Given the description of an element on the screen output the (x, y) to click on. 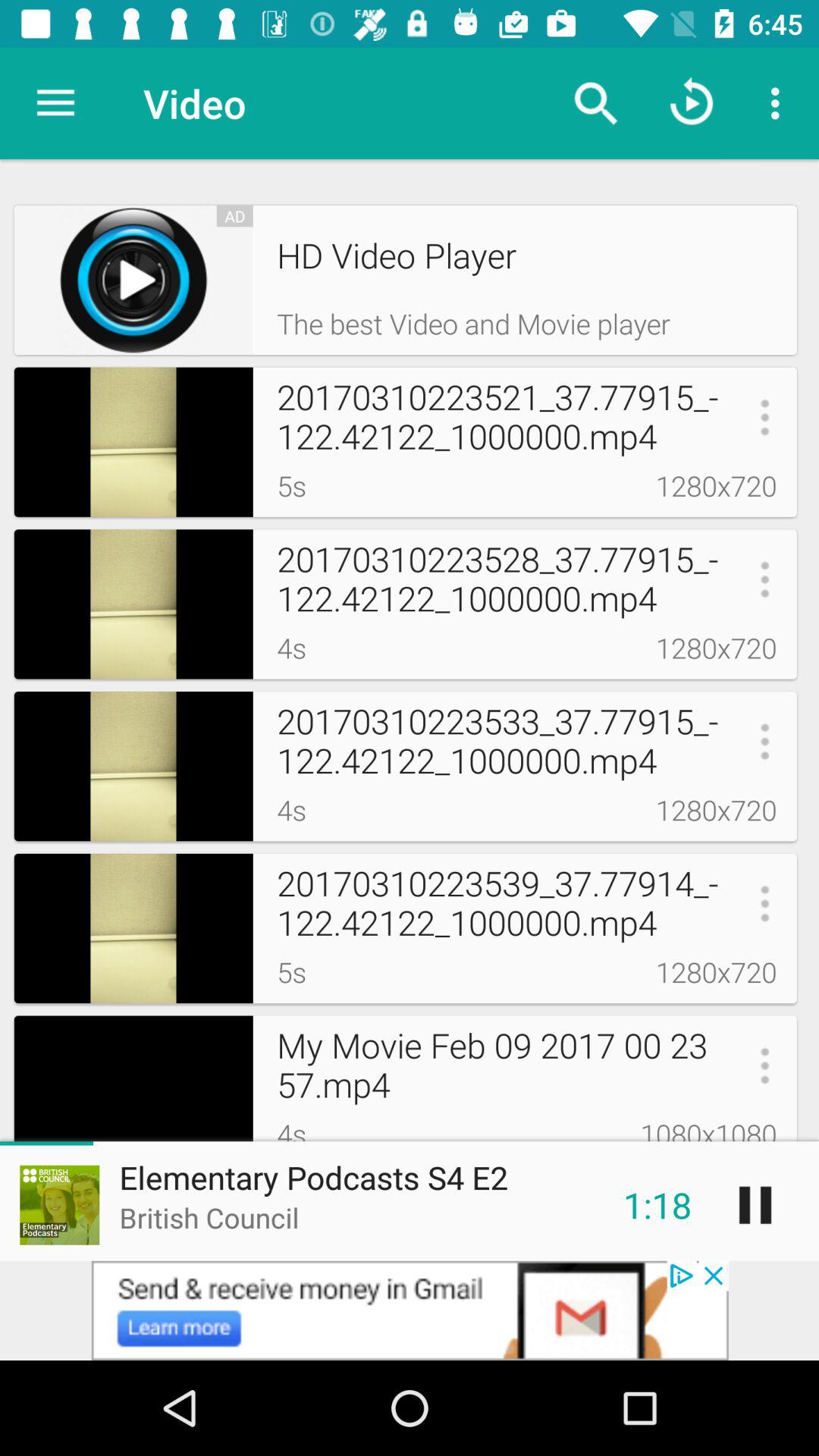
other page link (409, 1310)
